Given the description of an element on the screen output the (x, y) to click on. 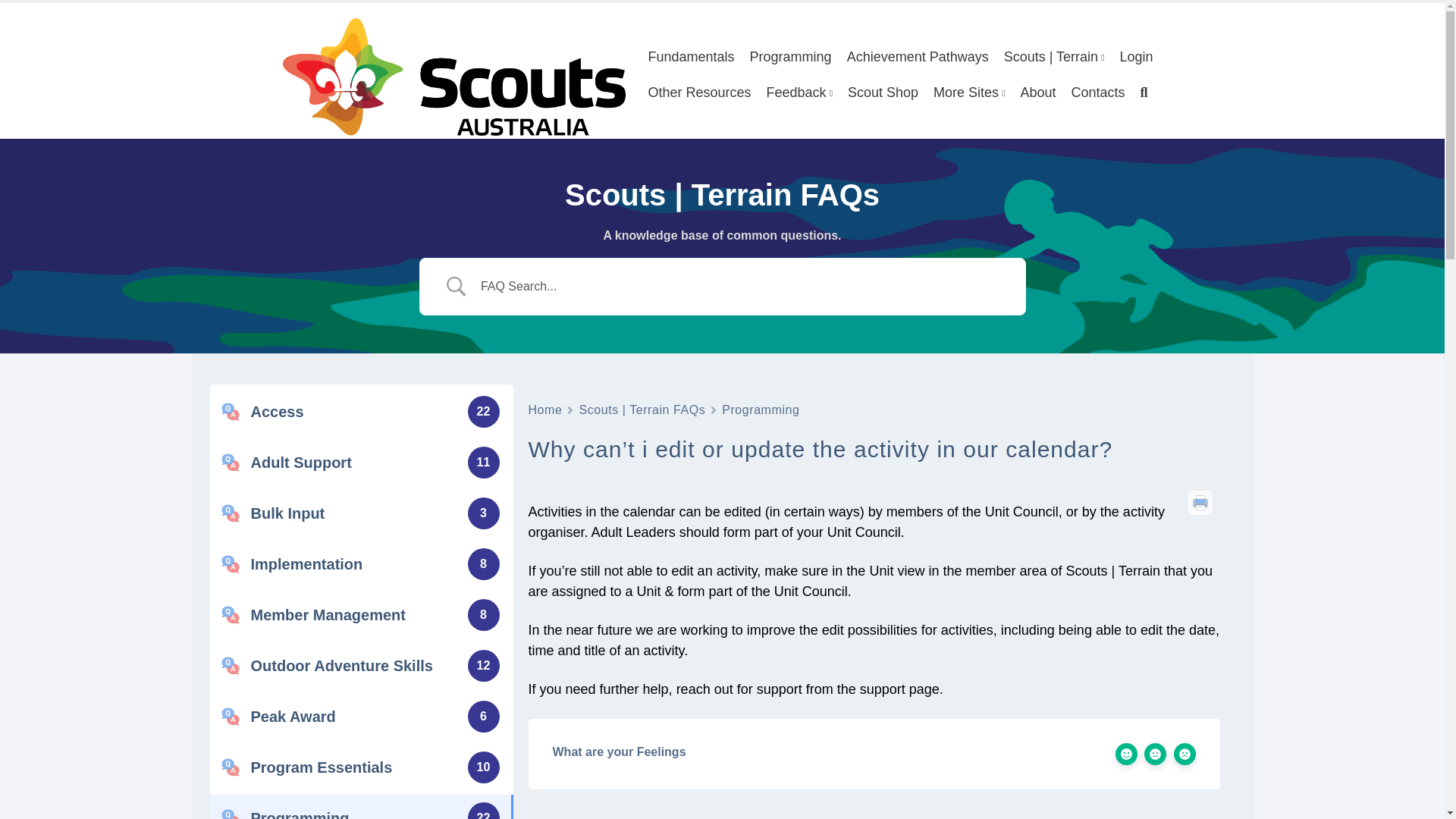
Login (1136, 57)
Feedback (799, 92)
Programming (791, 57)
Contacts (1098, 92)
Programming (760, 409)
More Sites (968, 92)
Home (544, 409)
Fundamentals (690, 57)
Scout Shop (883, 92)
Achievement Pathways (917, 57)
